Given the description of an element on the screen output the (x, y) to click on. 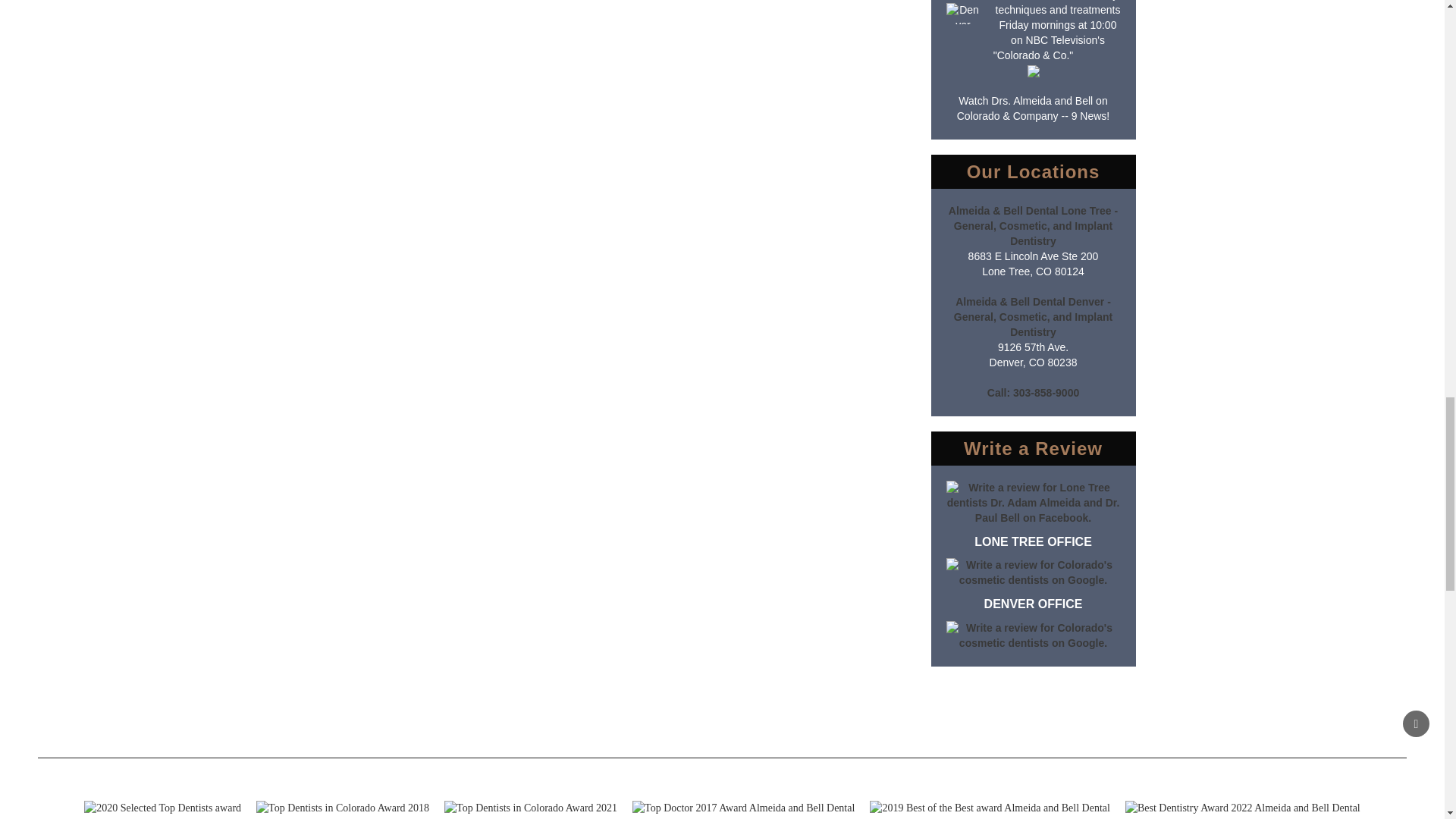
Top Dentist 2020 (162, 807)
Top Dentist 2021 (530, 807)
2019 Best Dentist (989, 807)
Top Doctor 2017 (742, 807)
Top Dentist 2018 (342, 807)
Best Dentistry 2022 (1242, 807)
